Given the description of an element on the screen output the (x, y) to click on. 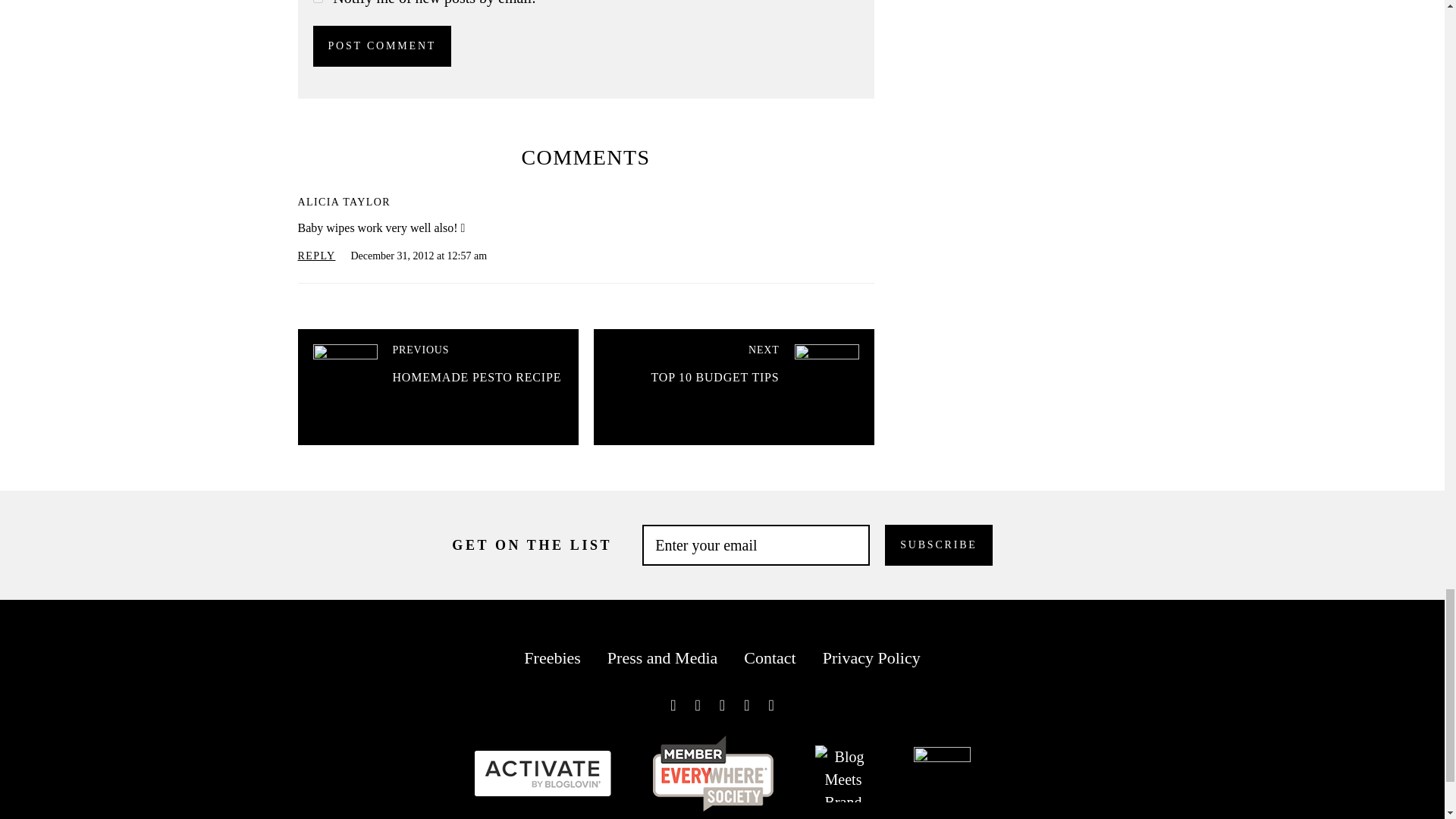
Subscribe (938, 544)
Post Comment (382, 45)
